Given the description of an element on the screen output the (x, y) to click on. 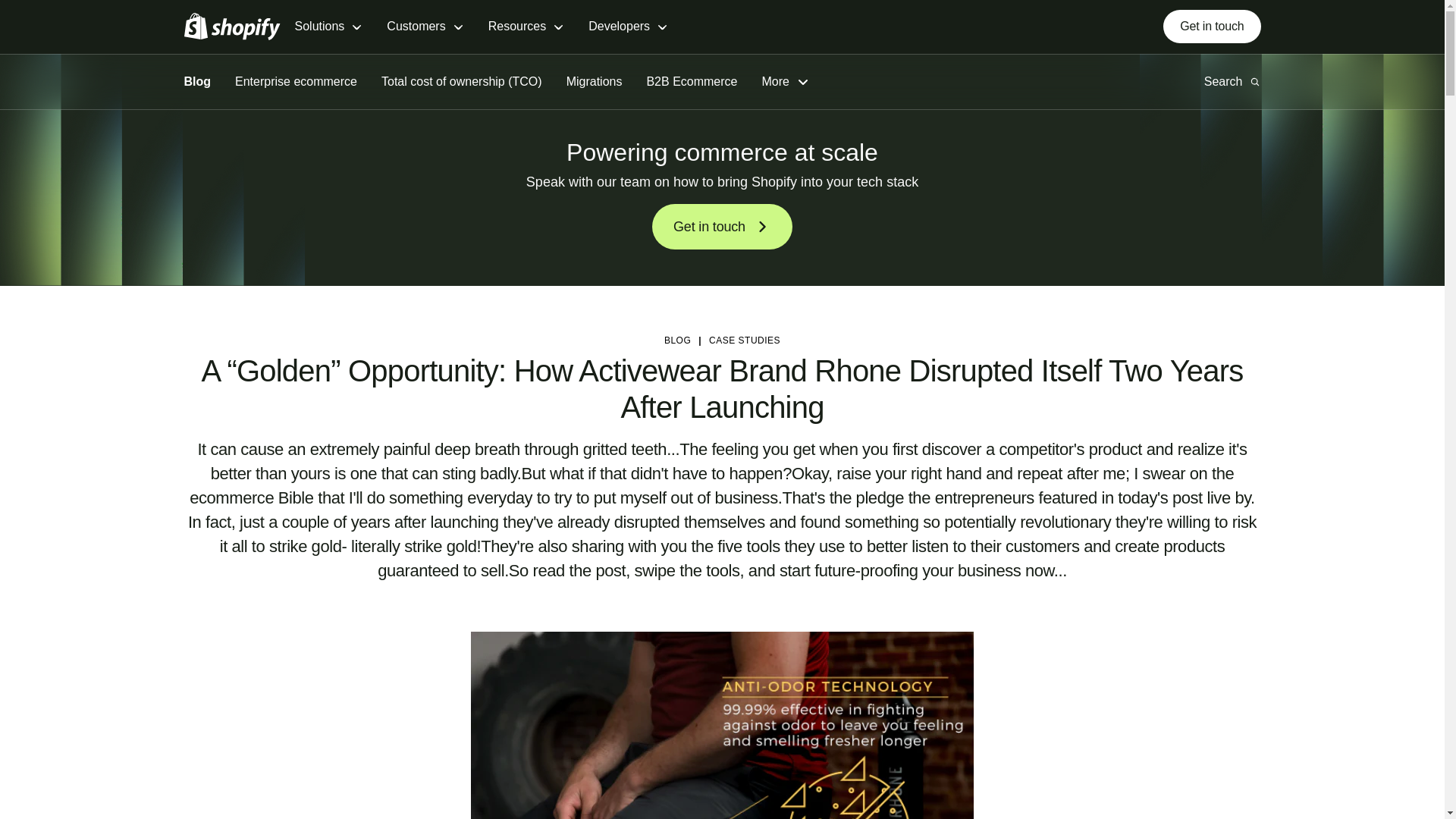
Customers (425, 27)
Resources (525, 27)
Solutions (328, 27)
Developers (628, 27)
